Given the description of an element on the screen output the (x, y) to click on. 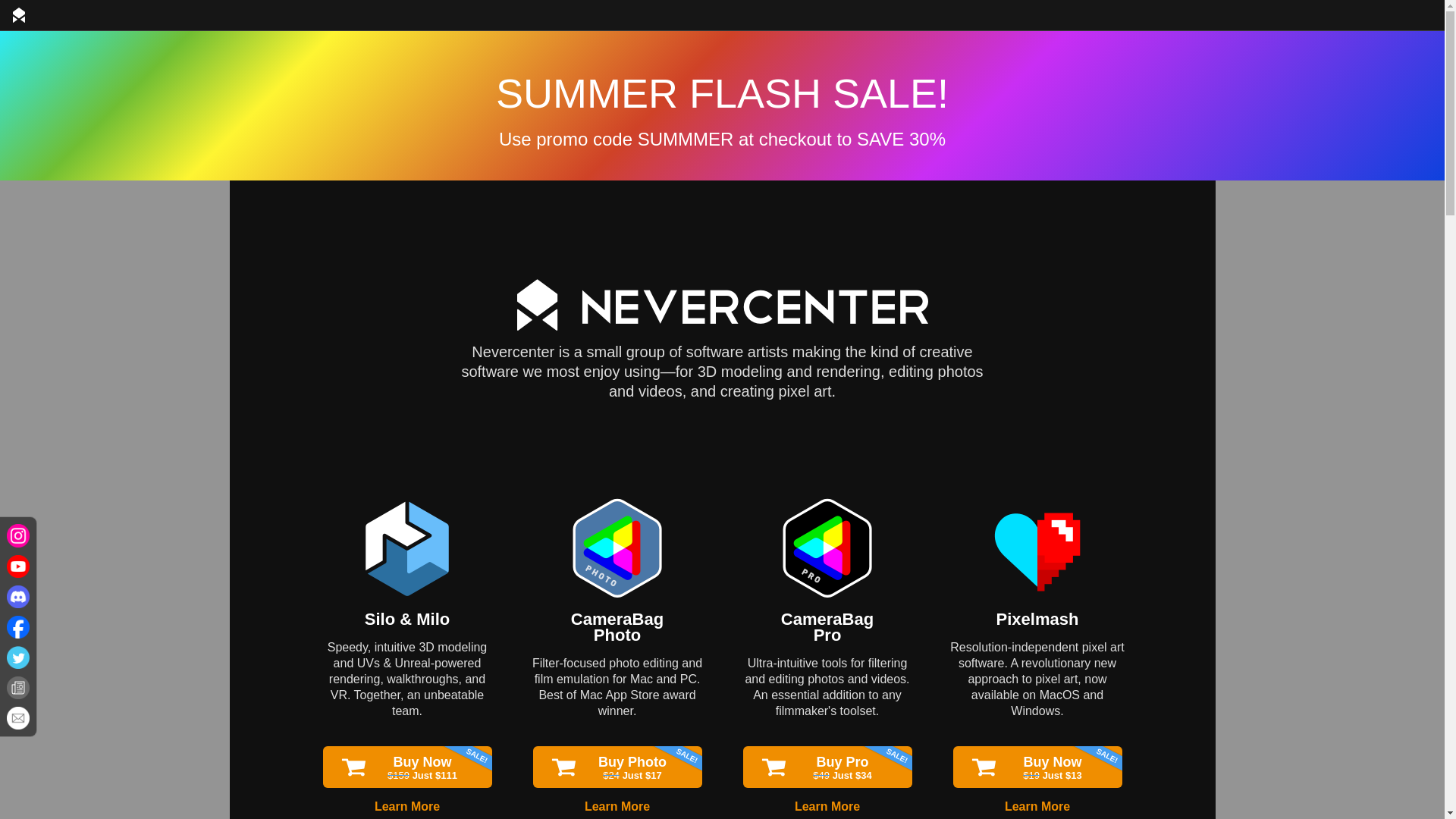
Learn More (617, 806)
Learn More (1037, 806)
Pixelmash (1036, 618)
Learn More (826, 626)
Learn More (406, 806)
